Given the description of an element on the screen output the (x, y) to click on. 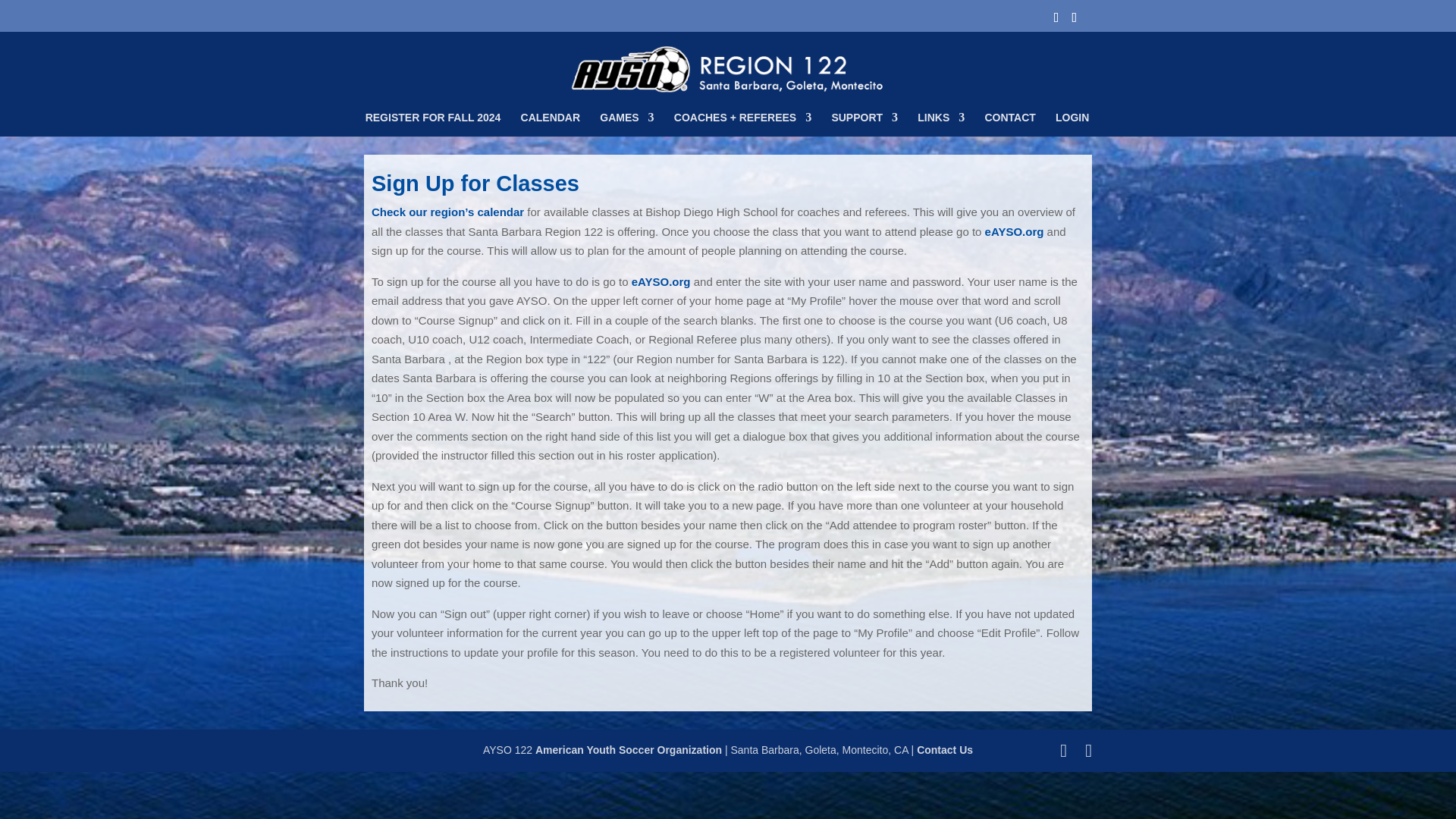
SUPPORT (864, 124)
American Youth Soccer (628, 749)
GAMES (626, 124)
LINKS (940, 124)
CALENDAR (550, 124)
REGISTER FOR FALL 2024 (432, 124)
